Given the description of an element on the screen output the (x, y) to click on. 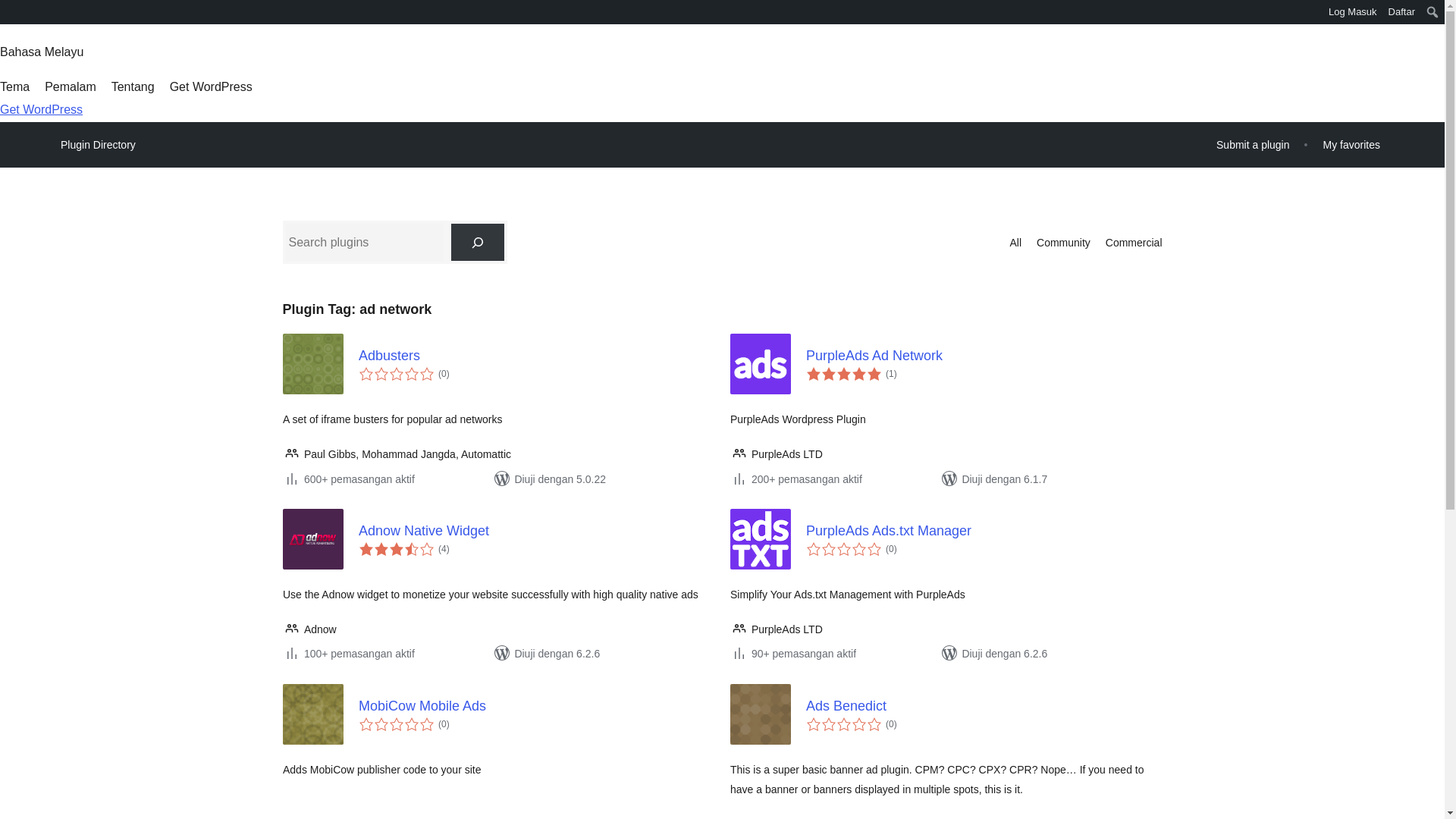
Pemalam (70, 87)
Daftar (1402, 12)
Plugin Directory (97, 144)
PurpleAds Ad Network (983, 355)
Community (1063, 242)
WordPress.org (10, 10)
MobiCow Mobile Ads (536, 705)
My favorites (1351, 144)
Commercial (1133, 242)
Submit a plugin (1253, 144)
